Given the description of an element on the screen output the (x, y) to click on. 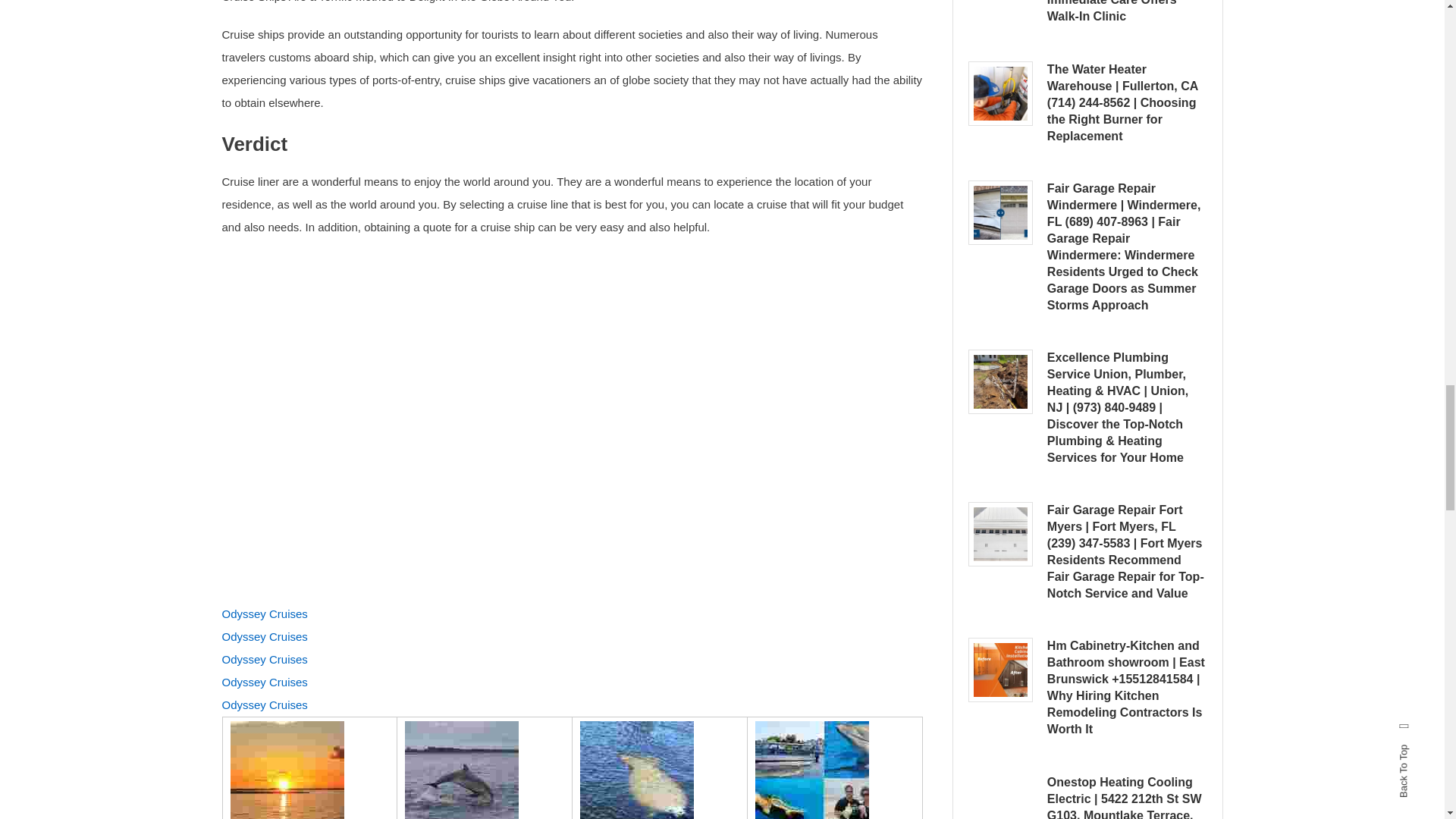
Odyssey Cruises Tarpon Springs Florida 727-934-0547 (636, 770)
Odyssey Cruises Tarpon Springs Florida 727-934-0547 (812, 770)
Odyssey Cruises Tarpon Springs Florida 727-934-0547 (286, 770)
Odyssey Cruises Tarpon Springs Florida 727-934-0547 (461, 770)
